Given the description of an element on the screen output the (x, y) to click on. 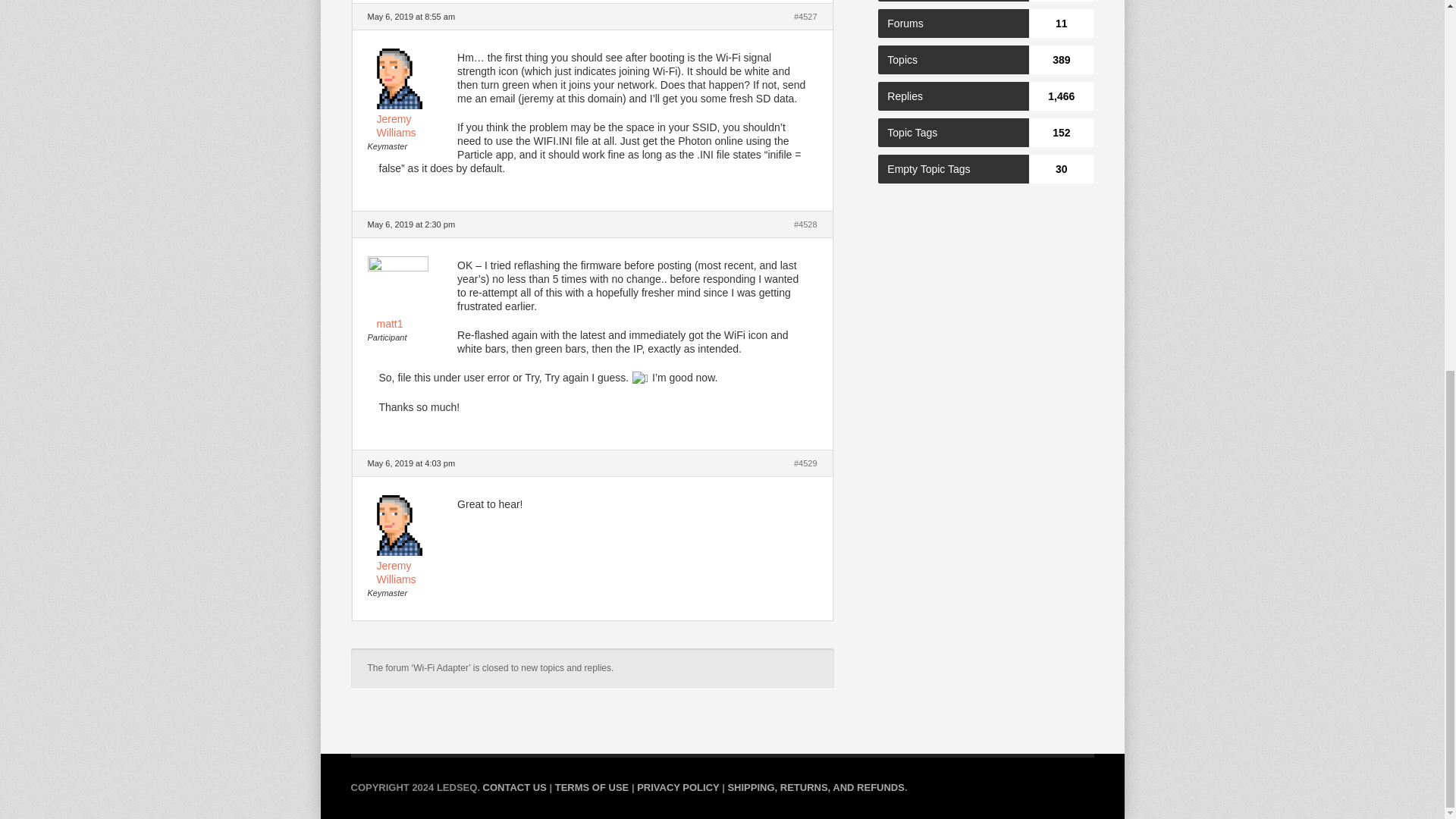
Jeremy Williams (411, 119)
Jeremy Williams (411, 566)
View Jeremy Williams's profile (411, 119)
View Jeremy Williams's profile (411, 566)
View matt1's profile (411, 295)
CONTACT US (515, 787)
matt1 (411, 295)
